Given the description of an element on the screen output the (x, y) to click on. 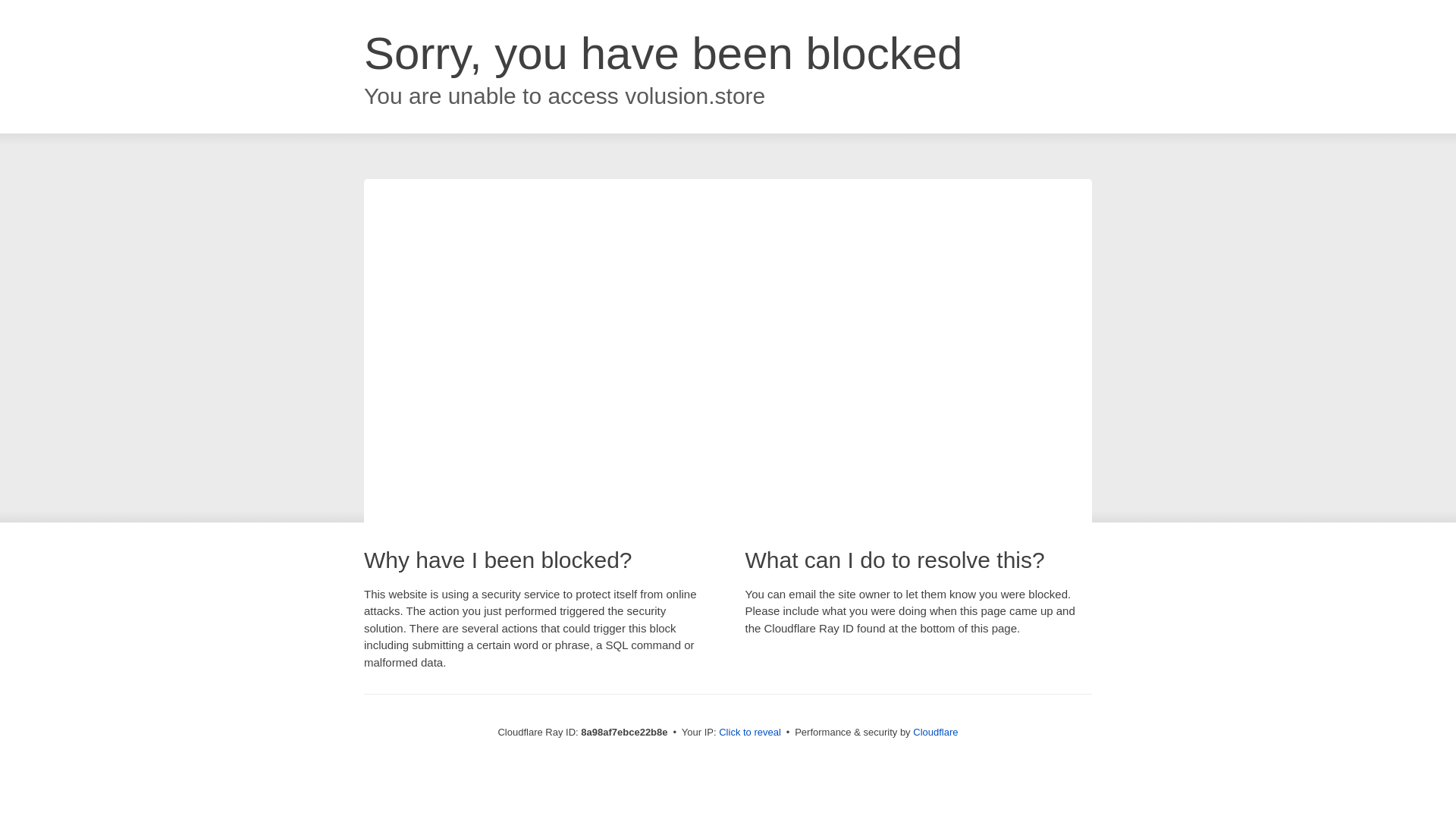
Click to reveal (749, 732)
Cloudflare (935, 731)
